Given the description of an element on the screen output the (x, y) to click on. 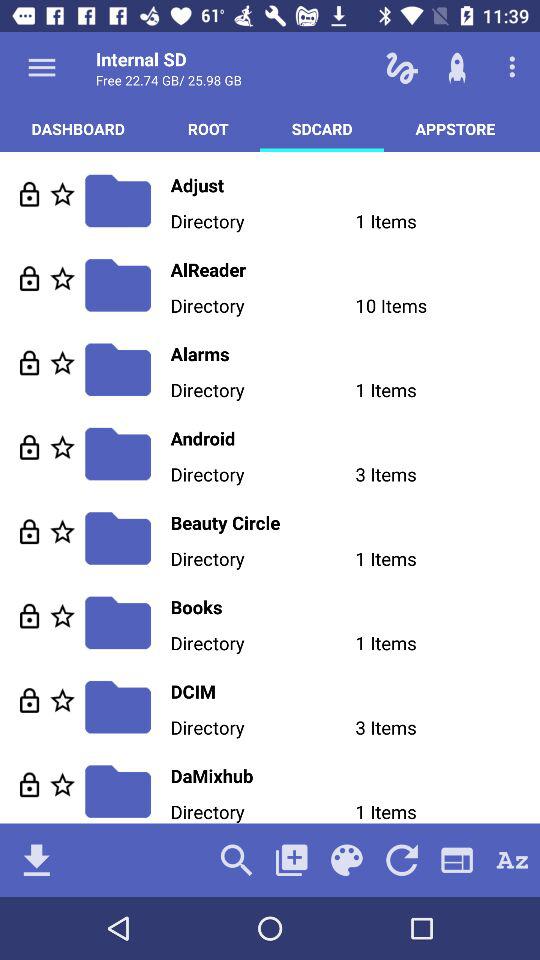
press adjust icon (355, 184)
